Given the description of an element on the screen output the (x, y) to click on. 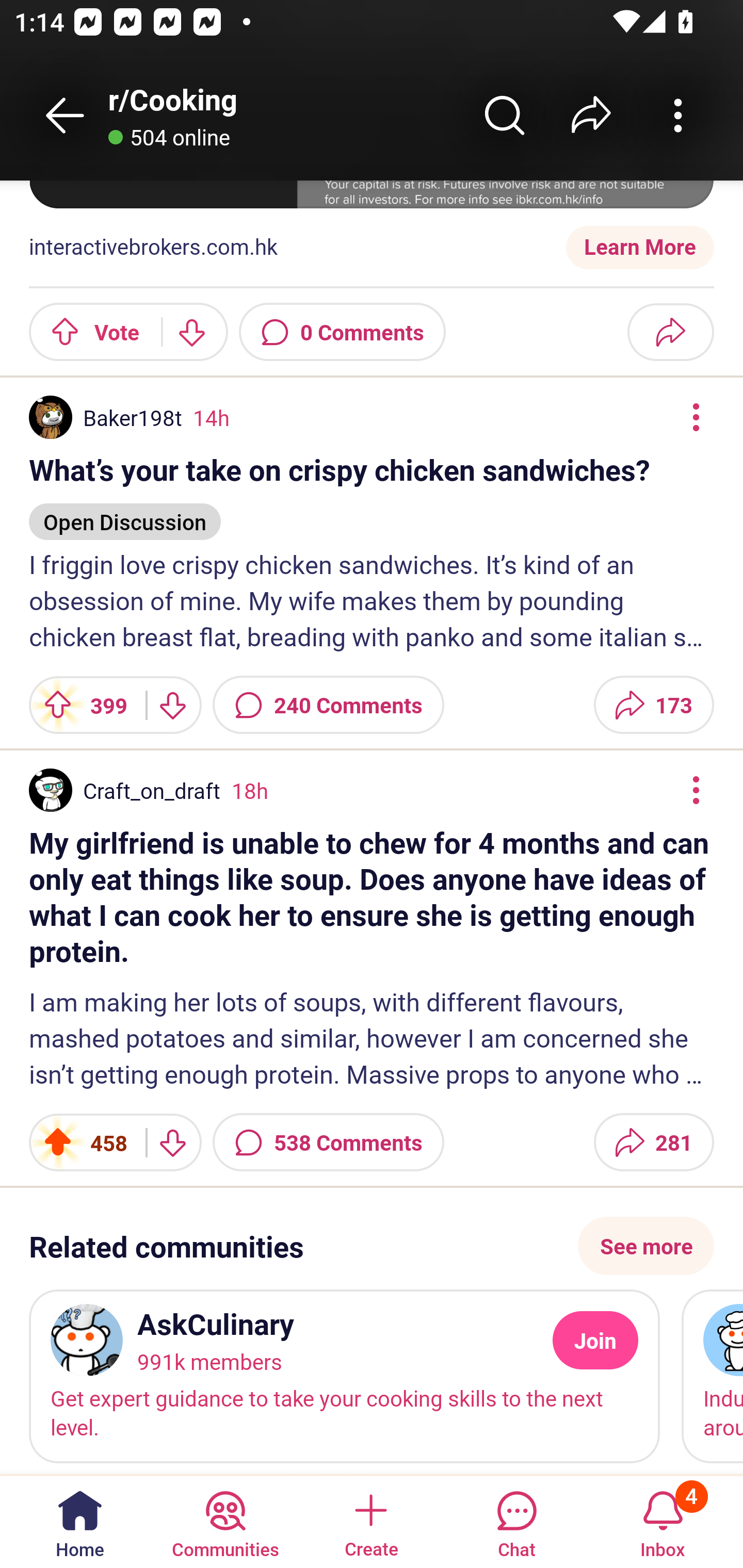
Back (64, 115)
Search r/﻿Cooking (504, 115)
Share r/﻿Cooking (591, 115)
More community actions (677, 115)
Open Discussion (124, 512)
Related communities See more (371, 1245)
See more (646, 1245)
Join (595, 1340)
Home (80, 1520)
Communities (225, 1520)
Create a post Create (370, 1520)
Chat (516, 1520)
Inbox, has 4 notifications 4 Inbox (662, 1520)
